Given the description of an element on the screen output the (x, y) to click on. 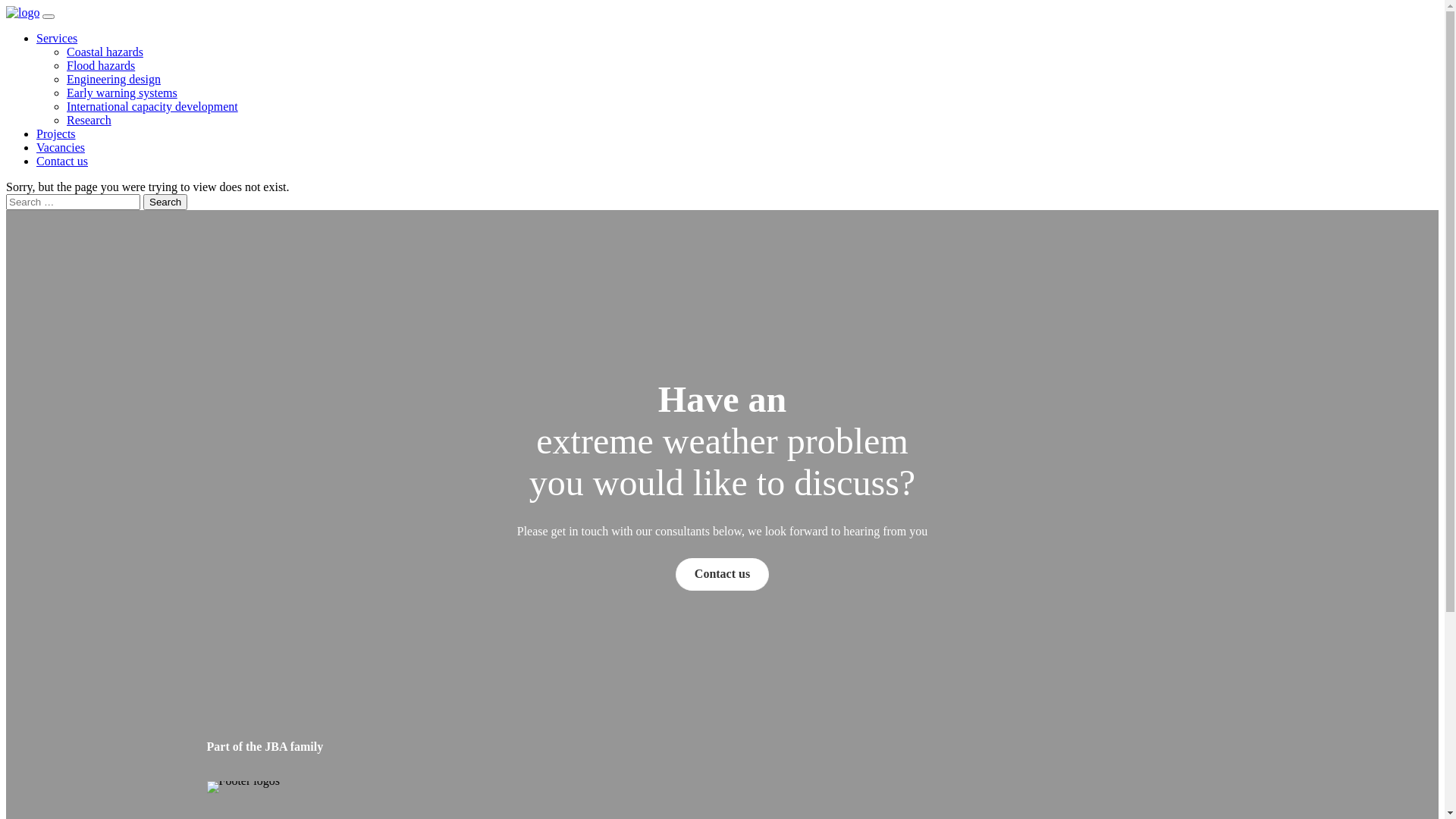
Services Element type: text (56, 37)
Projects Element type: text (55, 133)
Contact us Element type: text (61, 160)
Early warning systems Element type: text (121, 92)
Vacancies Element type: text (60, 147)
Coastal hazards Element type: text (104, 51)
International capacity development Element type: text (152, 106)
Contact us Element type: text (721, 574)
Flood hazards Element type: text (100, 65)
Search Element type: text (165, 202)
Research Element type: text (88, 119)
Engineering design Element type: text (113, 78)
Footer logos Element type: hover (242, 787)
